Given the description of an element on the screen output the (x, y) to click on. 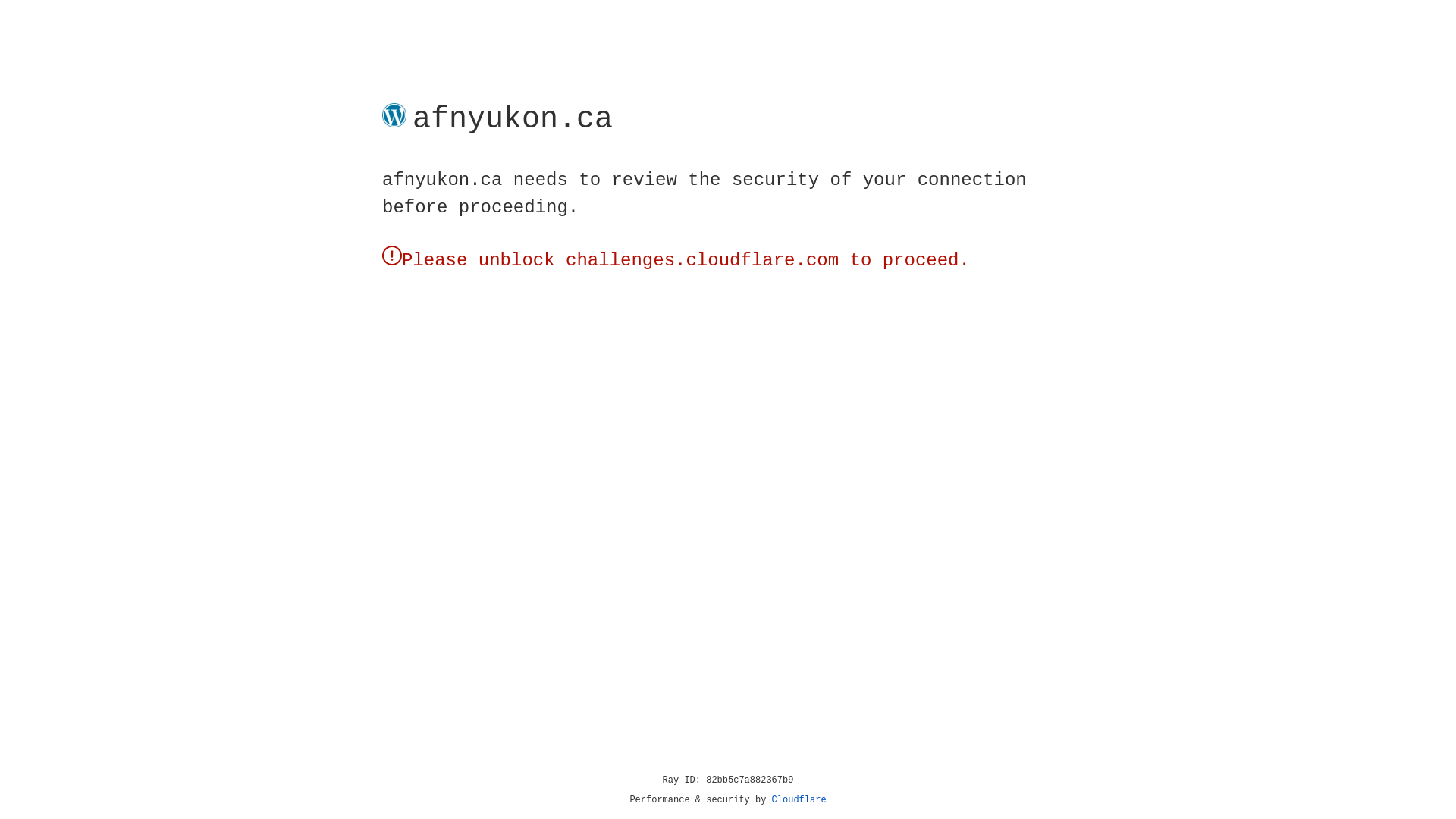
Cloudflare Element type: text (798, 799)
